Given the description of an element on the screen output the (x, y) to click on. 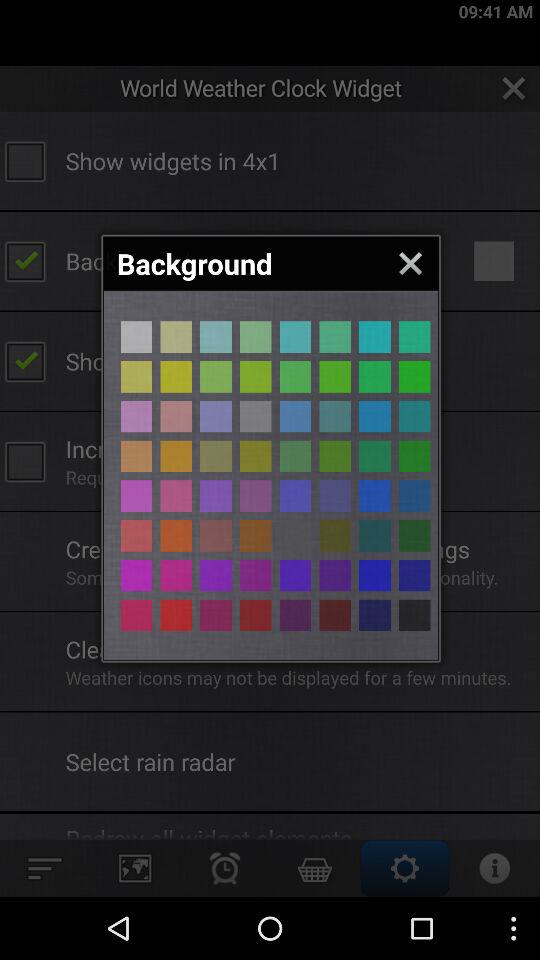
background button (335, 495)
